Given the description of an element on the screen output the (x, y) to click on. 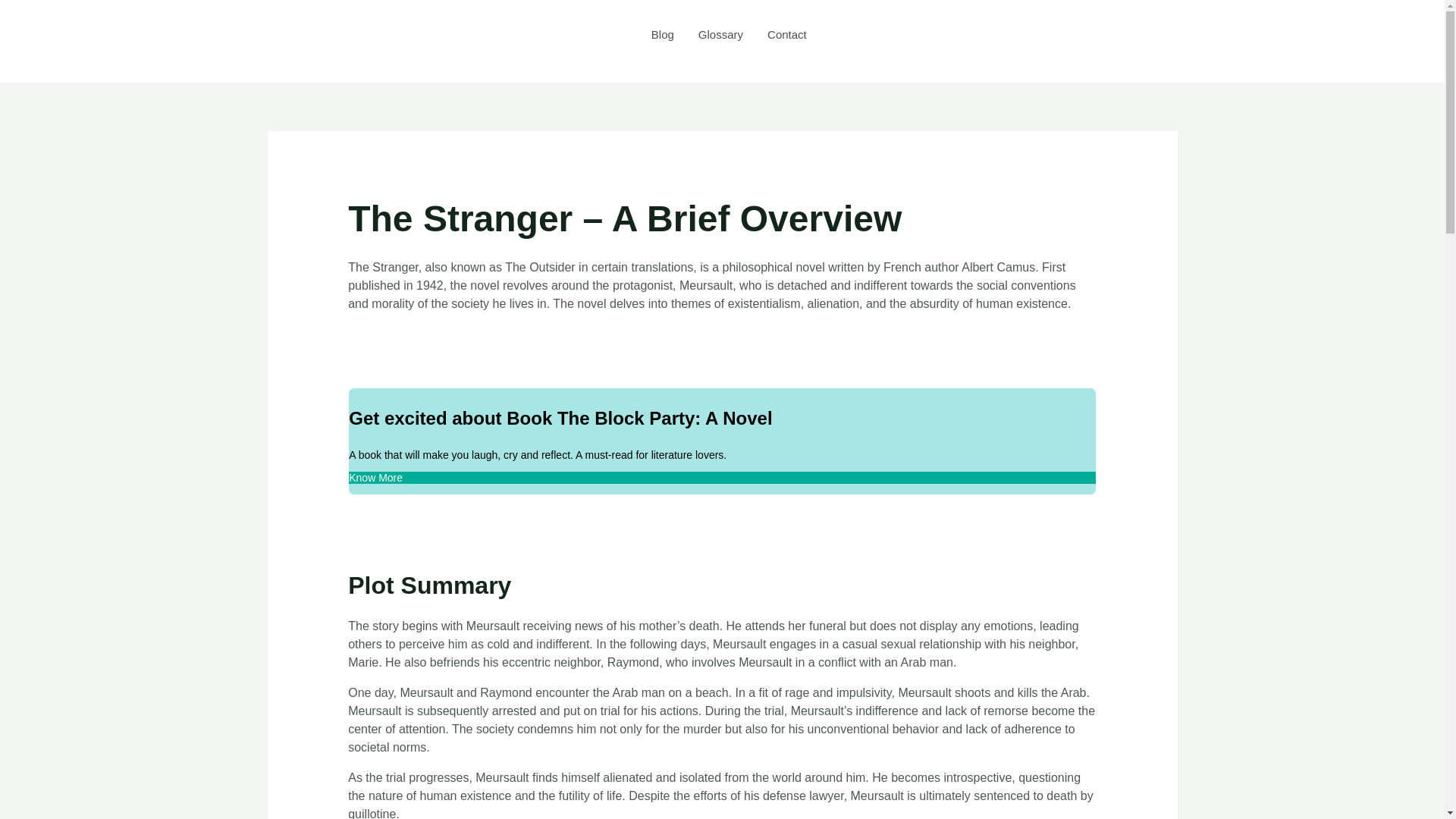
Glossary (720, 34)
Contact (786, 34)
